Given the description of an element on the screen output the (x, y) to click on. 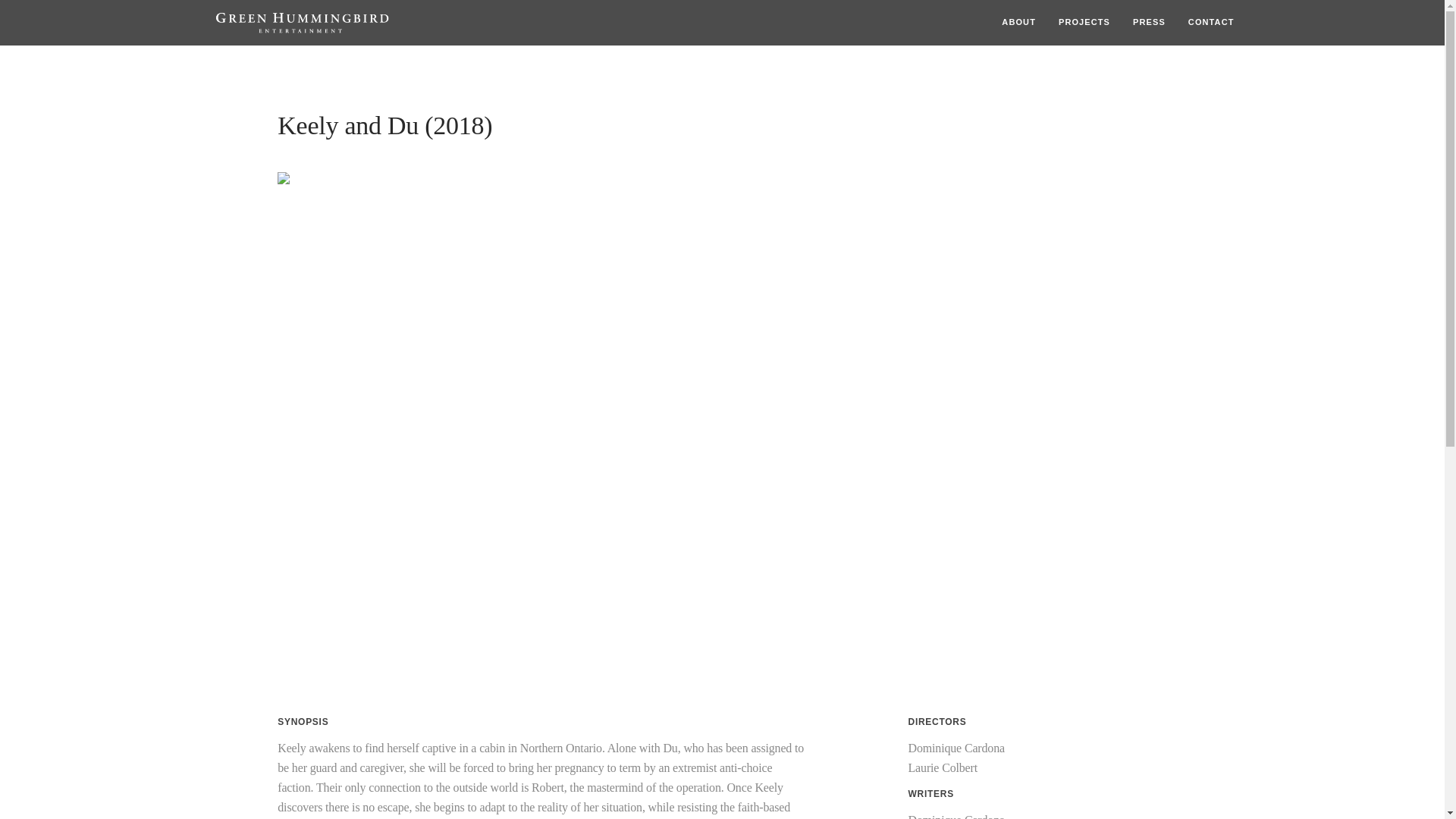
PRESS (1149, 21)
ABOUT (1018, 21)
PROJECTS (1083, 21)
CONTACT (1211, 21)
